Given the description of an element on the screen output the (x, y) to click on. 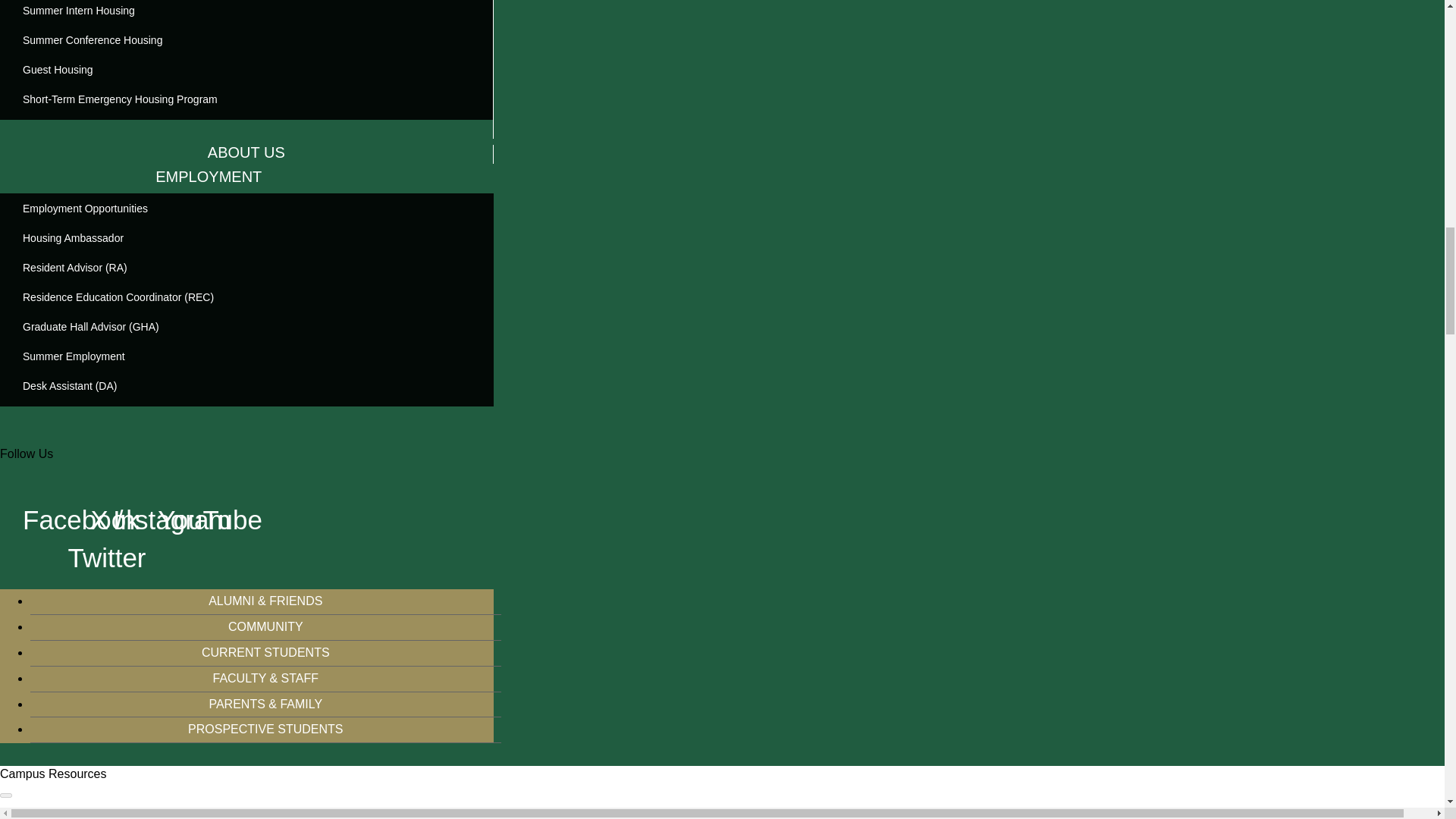
Current Students (266, 652)
Community (265, 626)
